Given the description of an element on the screen output the (x, y) to click on. 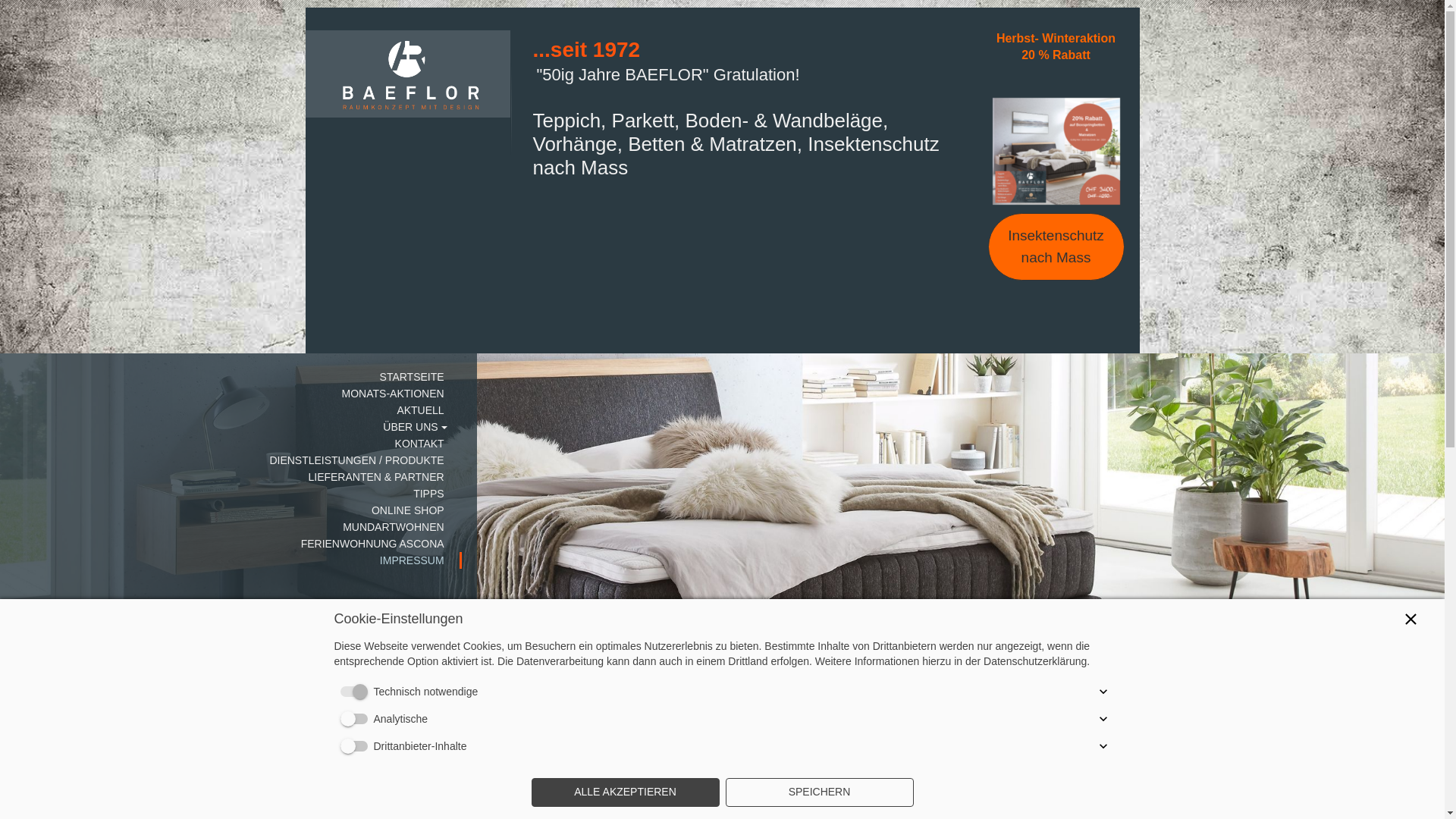
DIENSTLEISTUNGEN / PRODUKTE Element type: text (230, 459)
FERIENWOHNUNG ASCONA Element type: text (230, 543)
TIPPS Element type: text (230, 493)
ONLINE SHOP Element type: text (230, 510)
SPEICHERN Element type: text (818, 792)
LIEFERANTEN & PARTNER Element type: text (230, 476)
  Element type: text (406, 36)
Insektenschutz nach Mass Element type: text (1055, 246)
MUNDARTWOHNEN Element type: text (230, 526)
STARTSEITE Element type: text (230, 376)
ALLE AKZEPTIEREN Element type: text (624, 792)
KONTAKT Element type: text (230, 443)
AKTUELL Element type: text (230, 409)
IMPRESSUM Element type: text (230, 560)
MONATS-AKTIONEN Element type: text (230, 393)
